Given the description of an element on the screen output the (x, y) to click on. 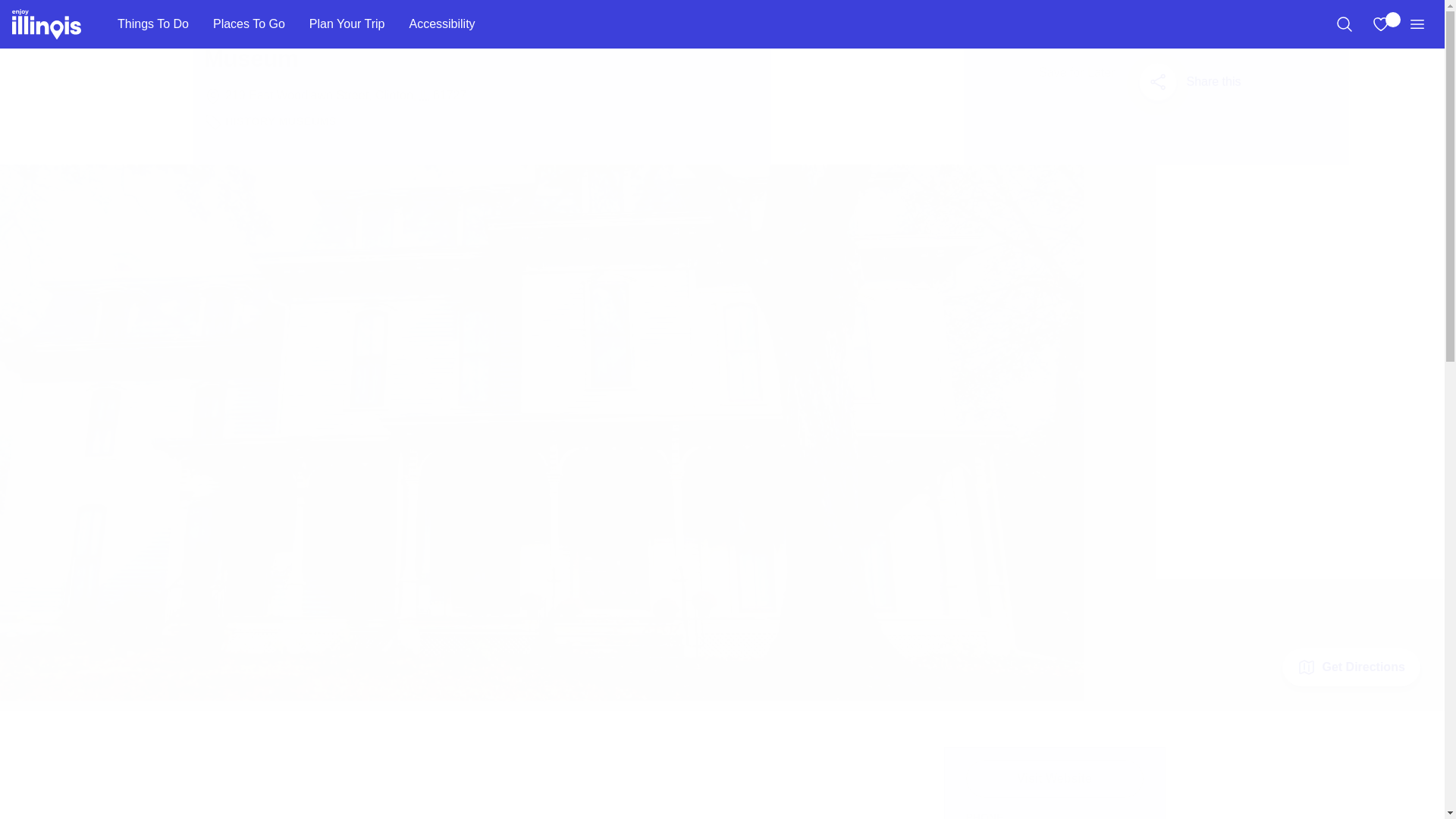
Accessibility (441, 24)
View My Favorites (1380, 24)
Things To Do (152, 24)
Menu (1417, 24)
Places To Go (248, 24)
Plan Your Trip (347, 24)
Search the Site (1344, 24)
